Given the description of an element on the screen output the (x, y) to click on. 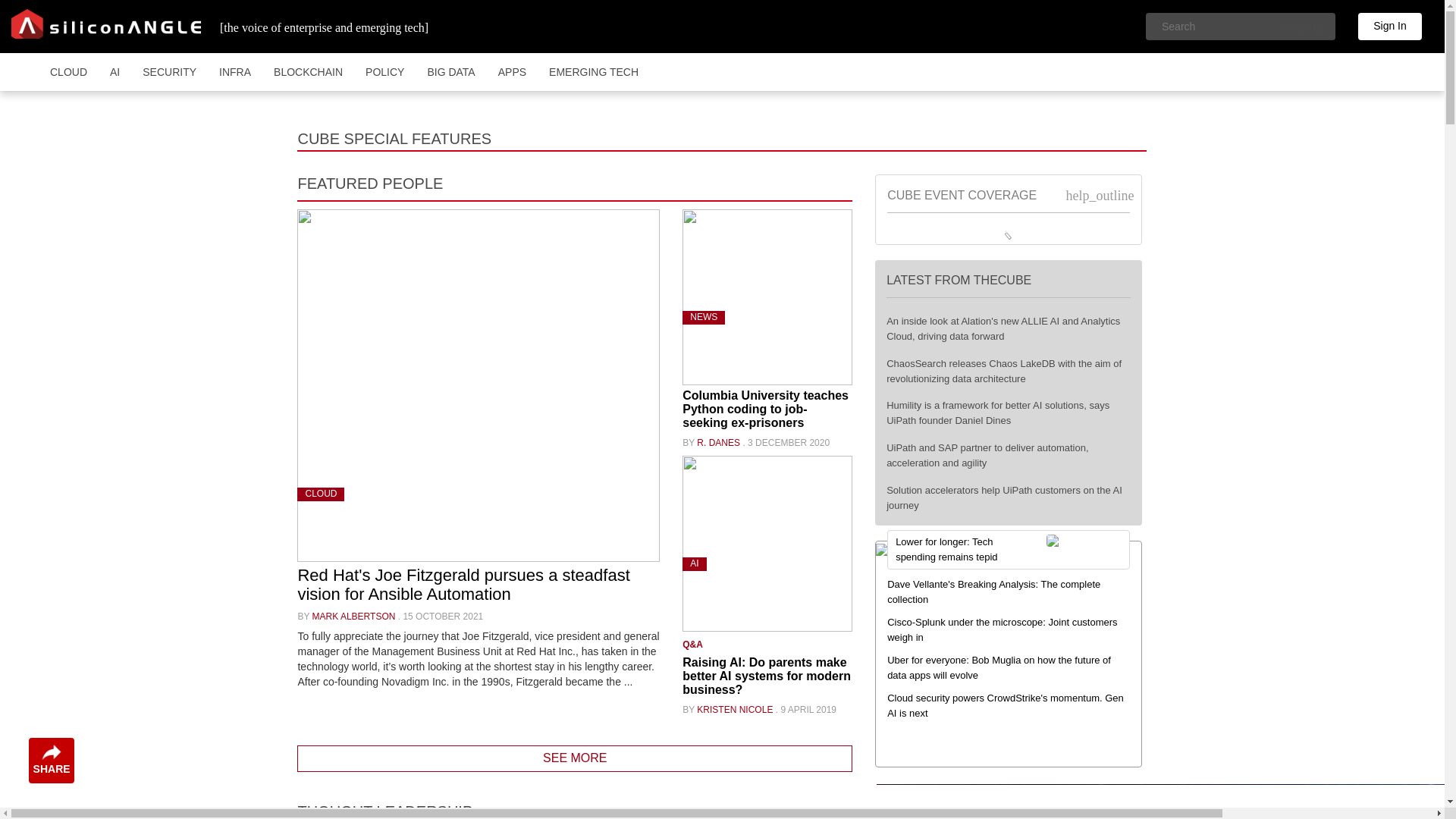
CLOUD (69, 71)
HOME (27, 70)
BLOCKCHAIN (307, 71)
Infra (235, 71)
SHARE (51, 759)
Emerging Tech (593, 71)
Blockchain (307, 71)
FEATURED PEOPLE (369, 183)
SECURITY (169, 71)
Apps (511, 71)
BIG DATA (450, 71)
APPS (511, 71)
EMERGING TECH (593, 71)
Sign In (1390, 26)
Cloud (69, 71)
